Given the description of an element on the screen output the (x, y) to click on. 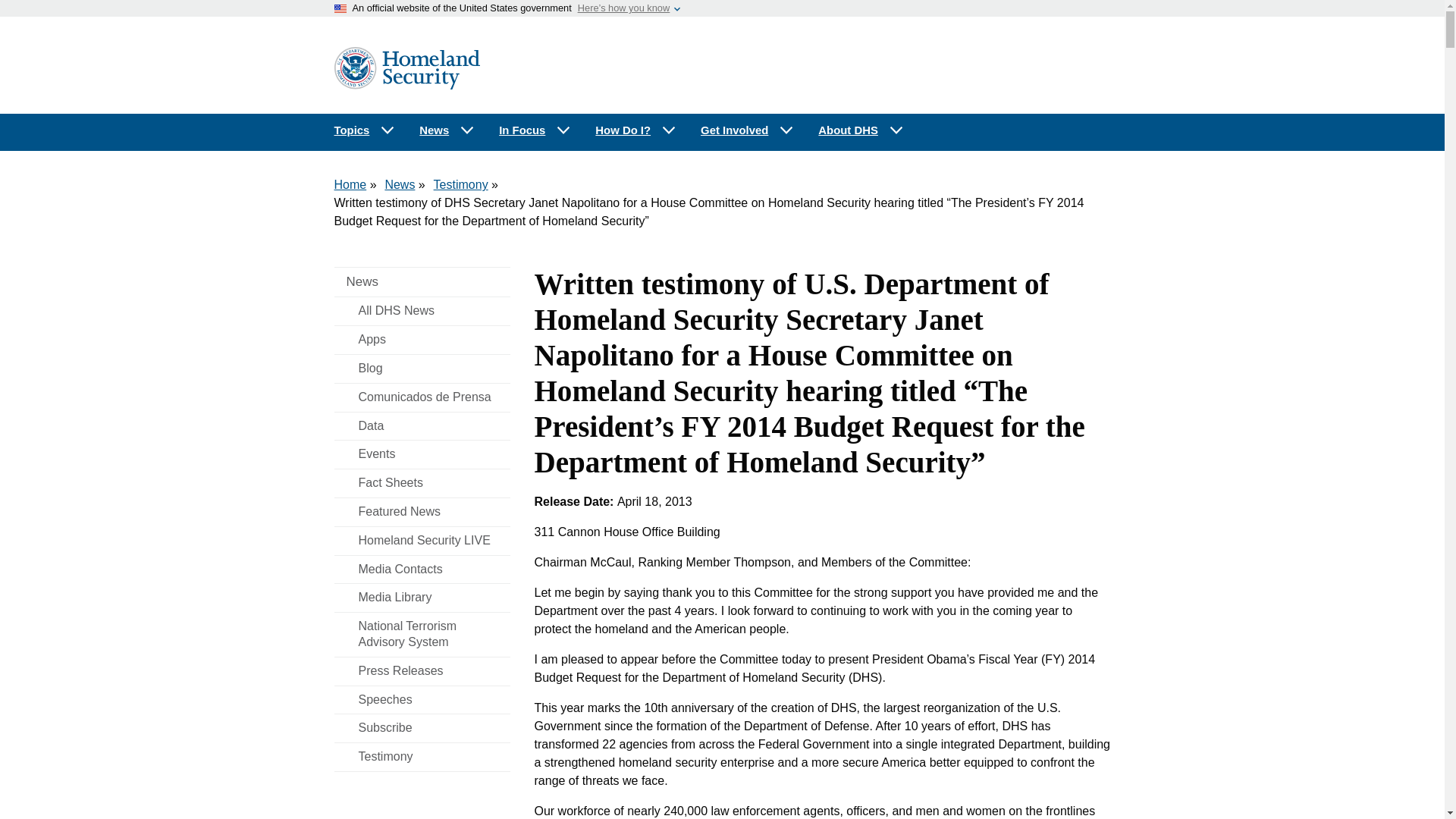
National Terrorism Advisory System (421, 634)
In Focus (534, 130)
All DHS News (421, 311)
Comunicados de Prensa (421, 397)
Testimony (460, 184)
Media Library (421, 597)
Blog (421, 368)
All DHS News (421, 311)
Homeland Security LIVE (421, 541)
Home (349, 184)
News (399, 184)
Get Involved (747, 130)
Press Releases (421, 671)
Fact Sheets (421, 483)
